Given the description of an element on the screen output the (x, y) to click on. 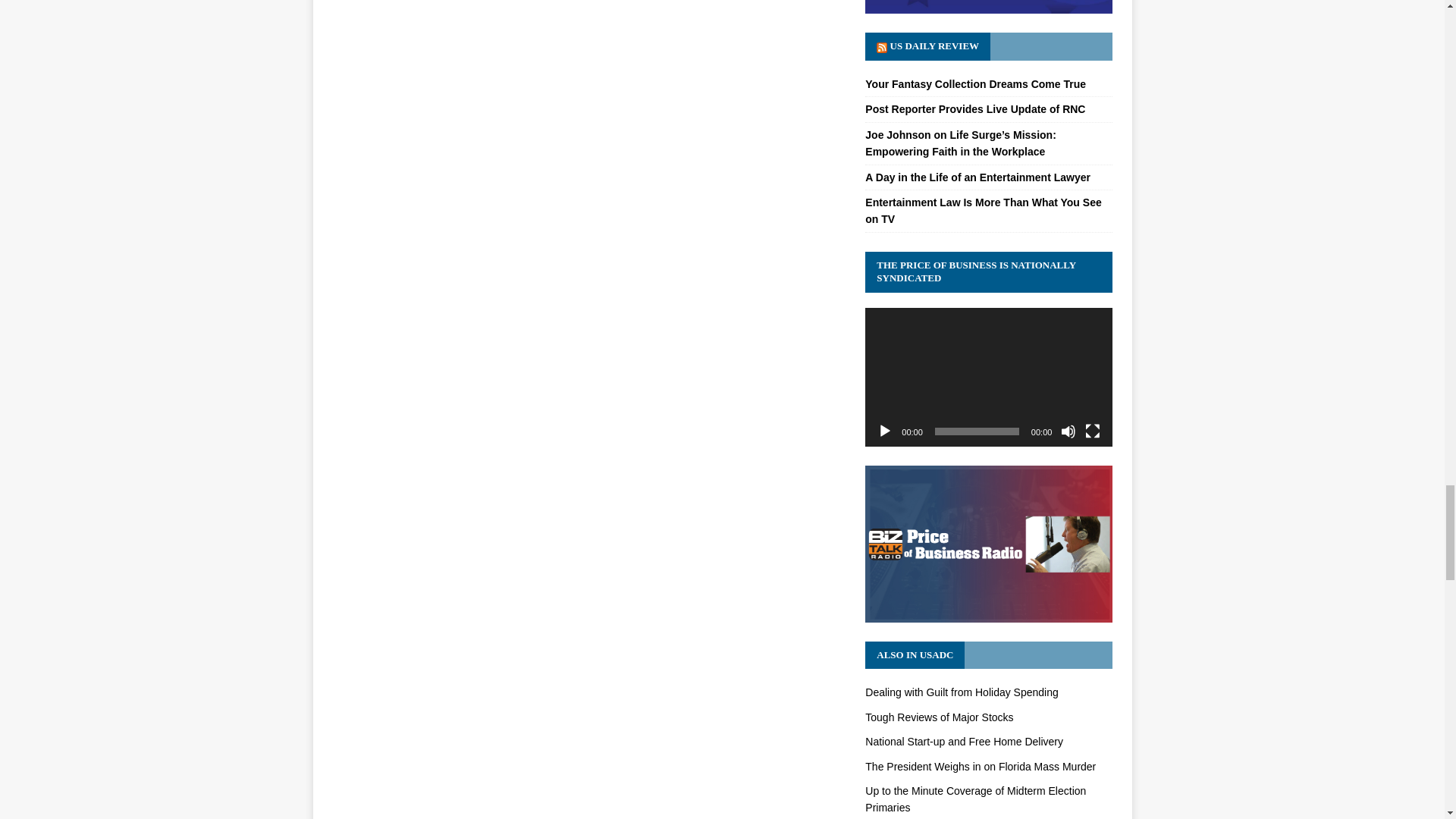
Play (884, 431)
Fullscreen (1092, 431)
Mute (1068, 431)
